Given the description of an element on the screen output the (x, y) to click on. 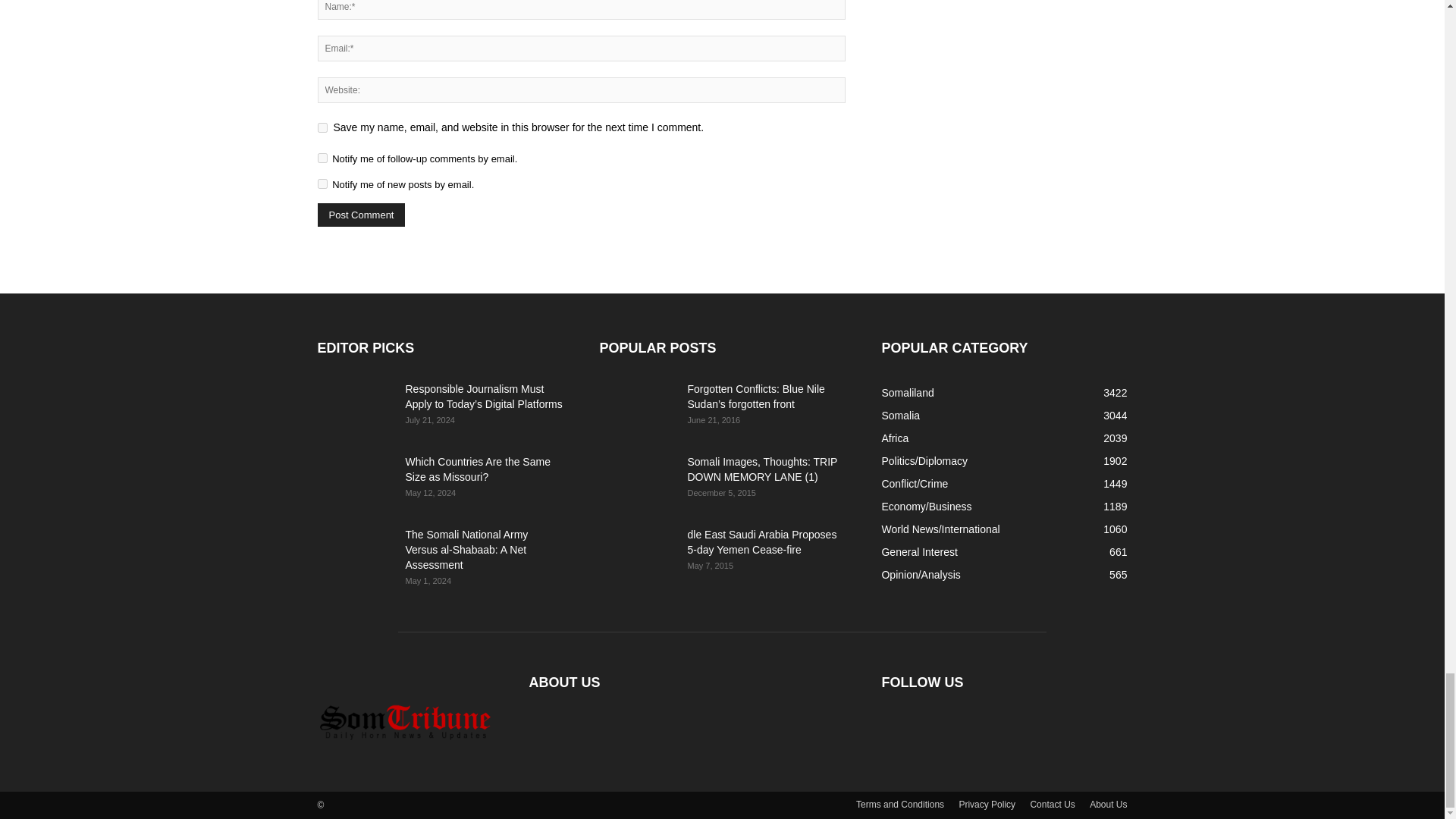
subscribe (321, 157)
subscribe (321, 184)
yes (321, 127)
Post Comment (360, 214)
